Given the description of an element on the screen output the (x, y) to click on. 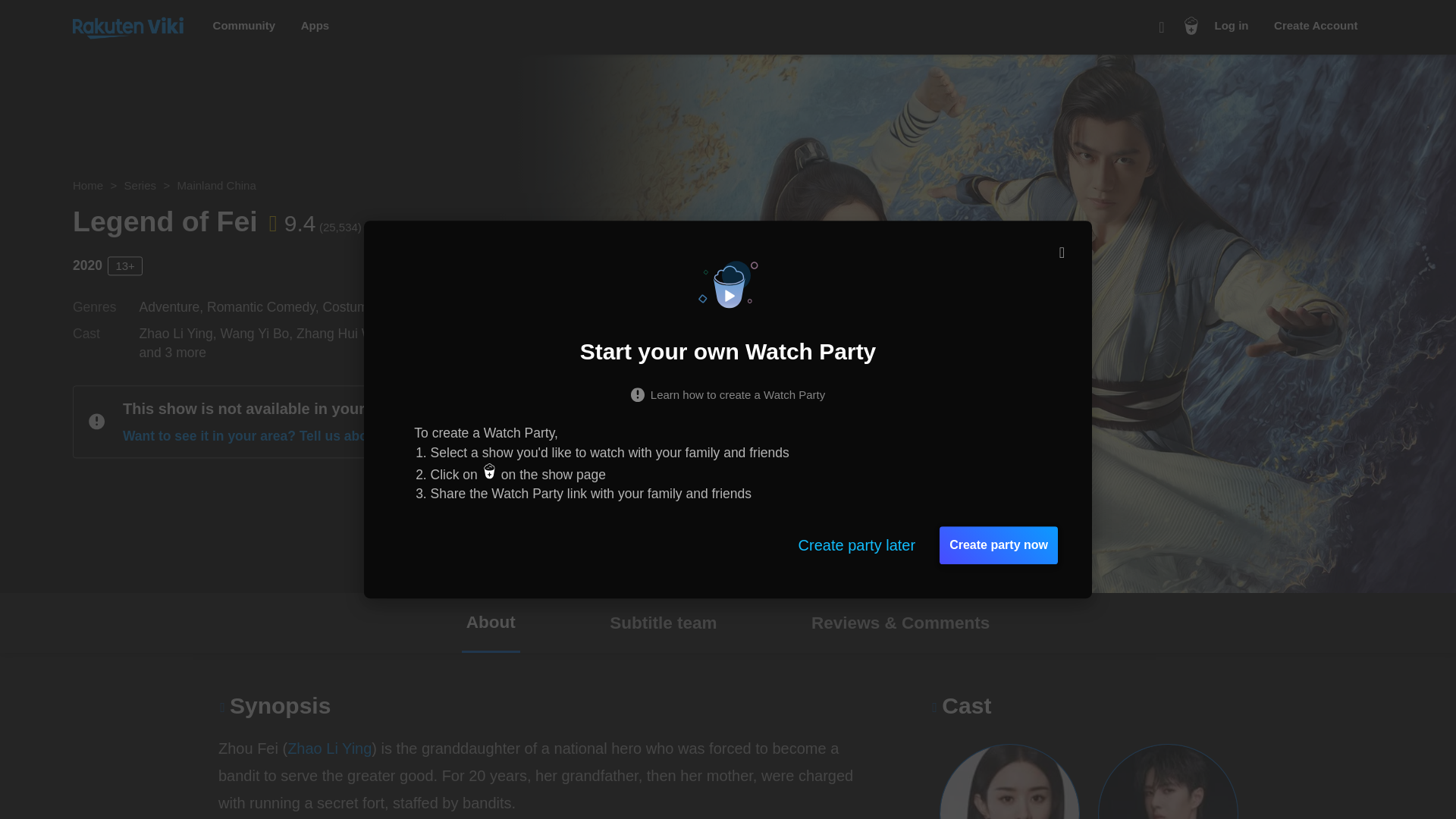
Zhao Li Ying (328, 748)
Zhao Li Ying, (180, 333)
Learn how to create a Watch Party (727, 393)
About (490, 622)
Mainland China (216, 185)
Create Account (1315, 25)
Apps (315, 25)
Create party later (856, 545)
Want to see it in your area? Tell us about it! (268, 436)
Create party now (998, 545)
